Given the description of an element on the screen output the (x, y) to click on. 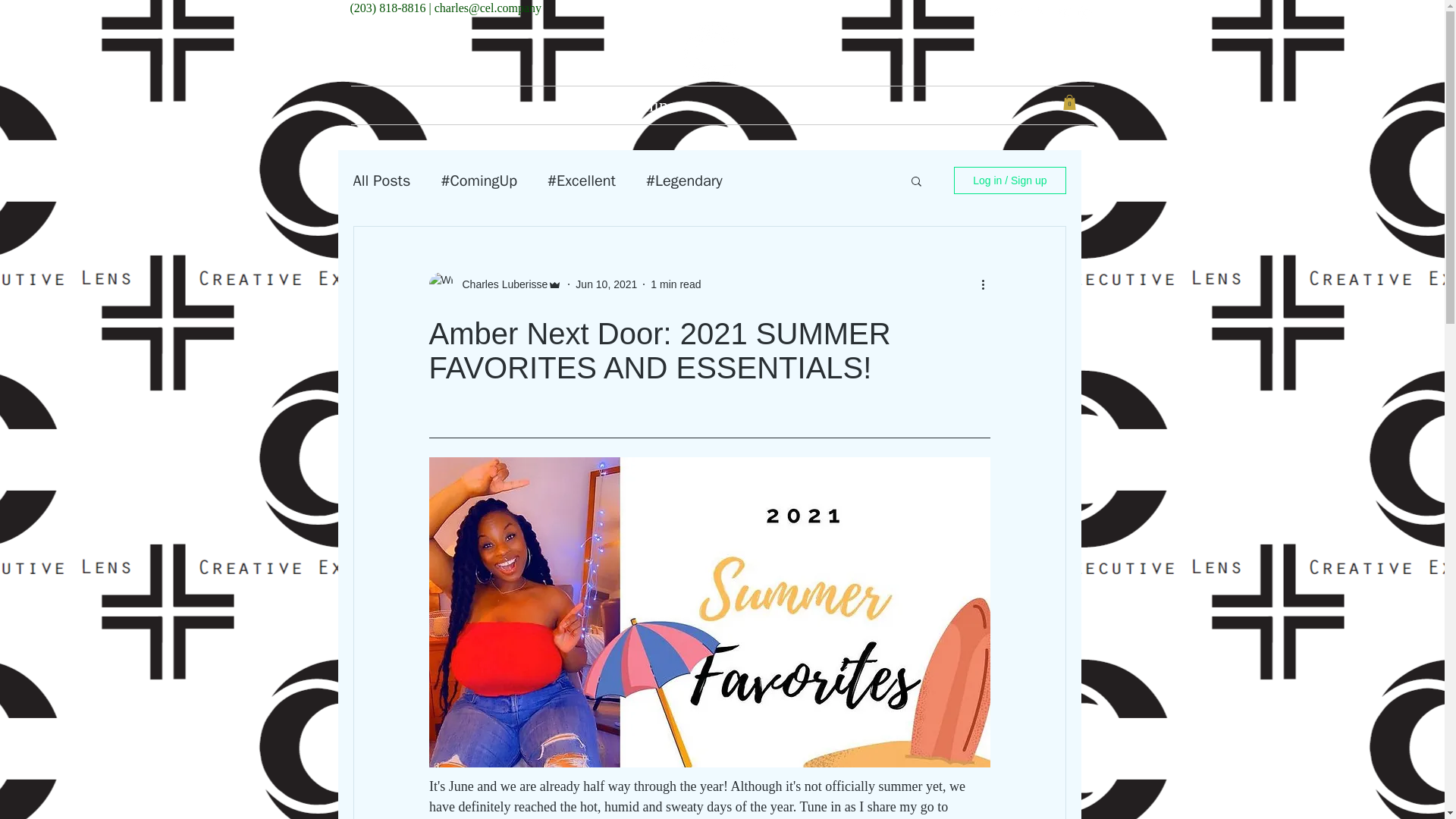
Shop (1001, 105)
Jun 10, 2021 (606, 284)
All Posts (381, 180)
Book Online (629, 105)
About (442, 105)
0 (1068, 102)
1 min read (675, 284)
0 (1068, 102)
Blog (814, 105)
Charles Luberisse (500, 284)
